Given the description of an element on the screen output the (x, y) to click on. 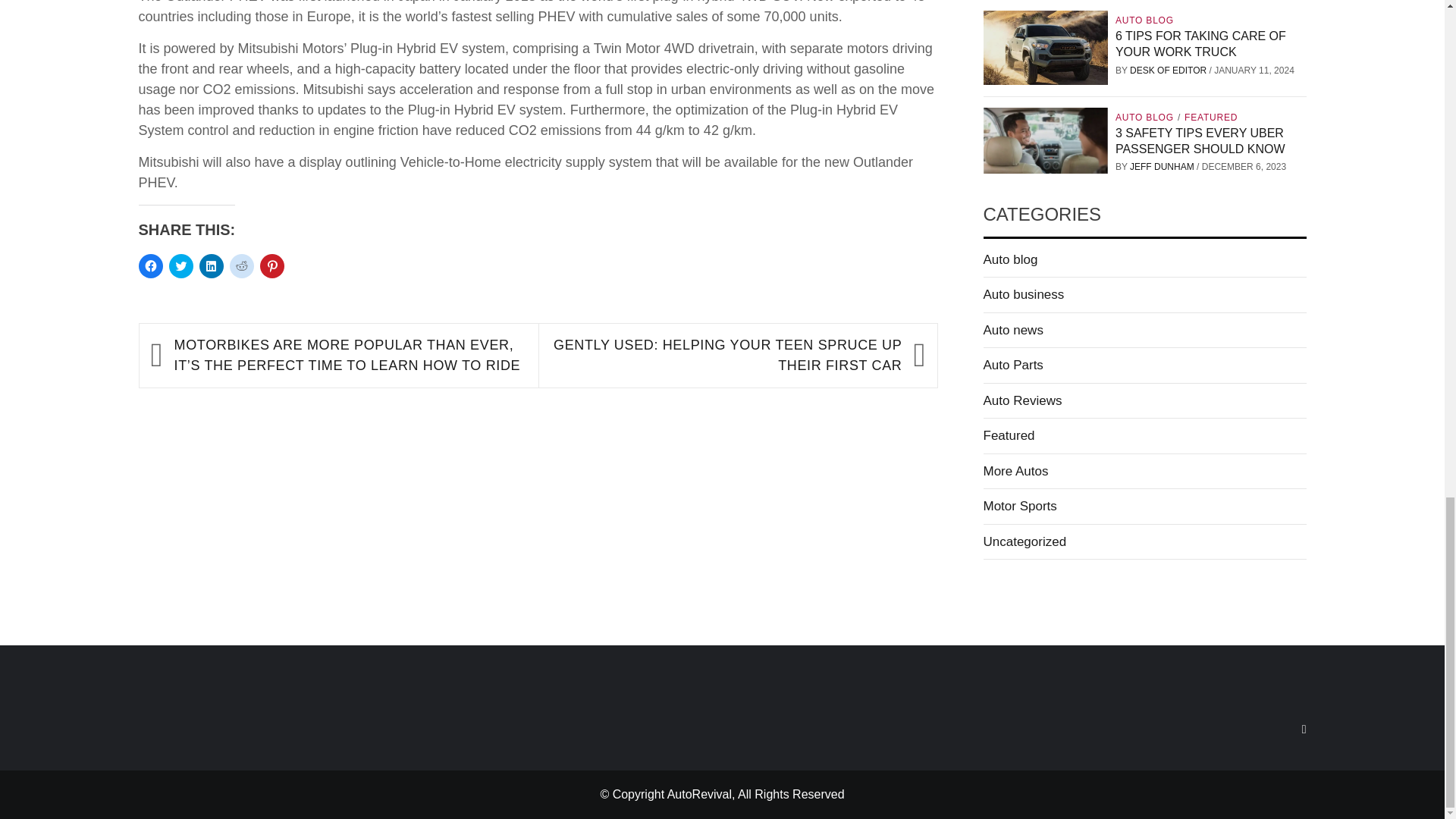
Click to share on Twitter (180, 265)
Click to share on LinkedIn (210, 265)
GENTLY USED: HELPING YOUR TEEN SPRUCE UP THEIR FIRST CAR (726, 354)
Click to share on Facebook (149, 265)
Click to share on Pinterest (271, 265)
Click to share on Reddit (240, 265)
